Given the description of an element on the screen output the (x, y) to click on. 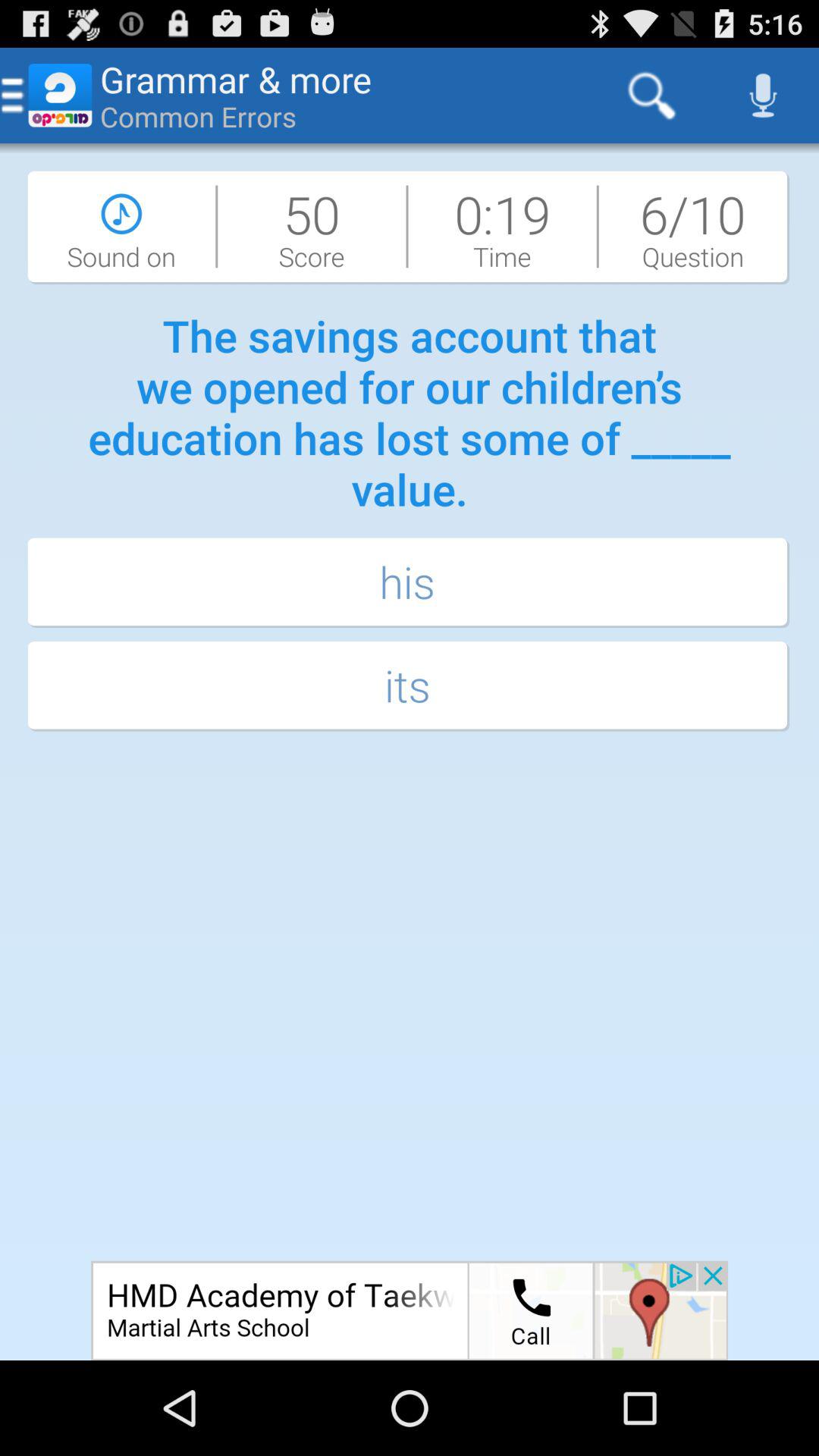
click item below the his icon (409, 687)
